Given the description of an element on the screen output the (x, y) to click on. 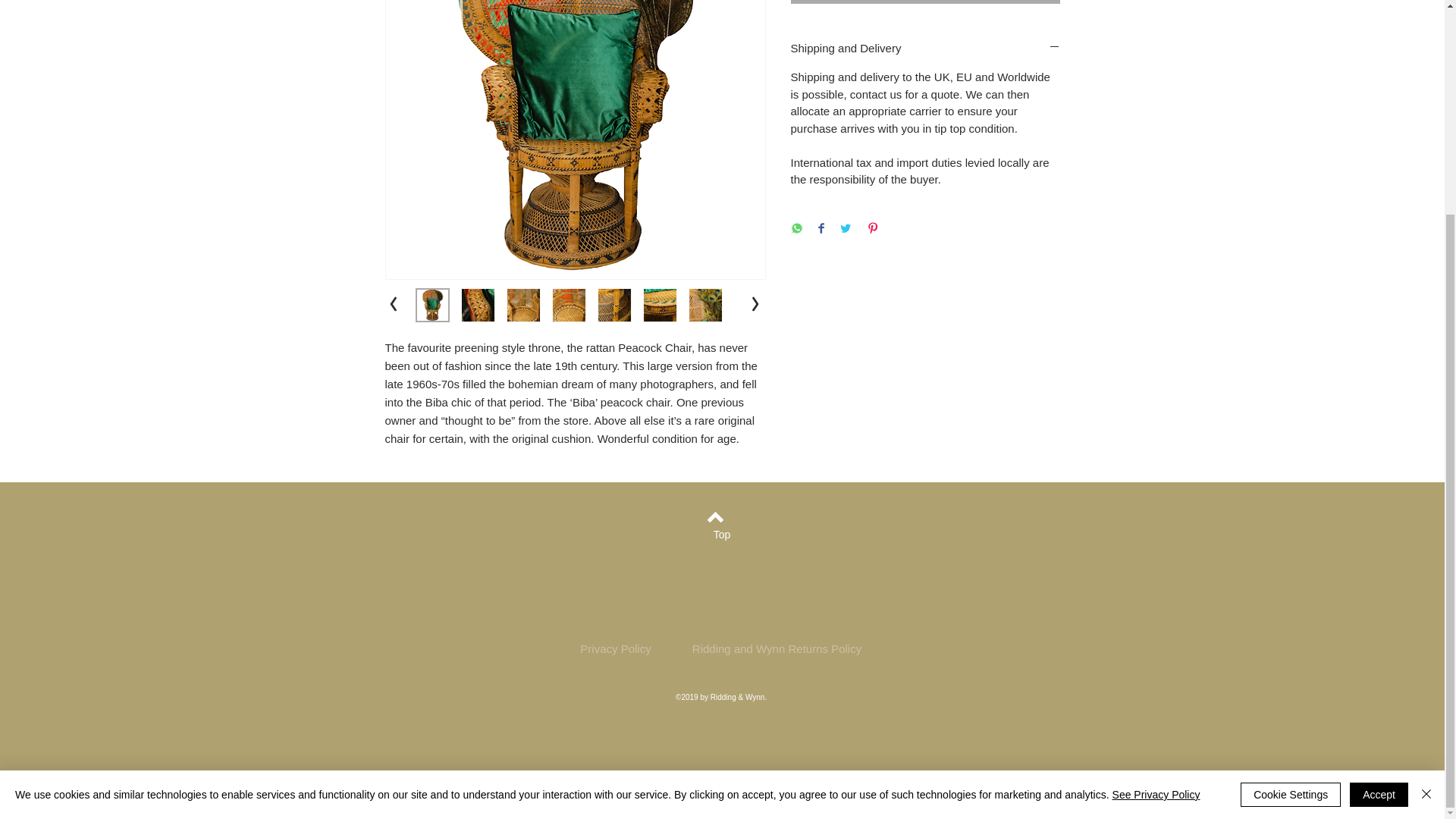
Top (721, 534)
Privacy Policy (614, 648)
Out of Stock (924, 2)
Ridding and Wynn Returns Policy (777, 648)
Shipping and Delivery (924, 48)
